Given the description of an element on the screen output the (x, y) to click on. 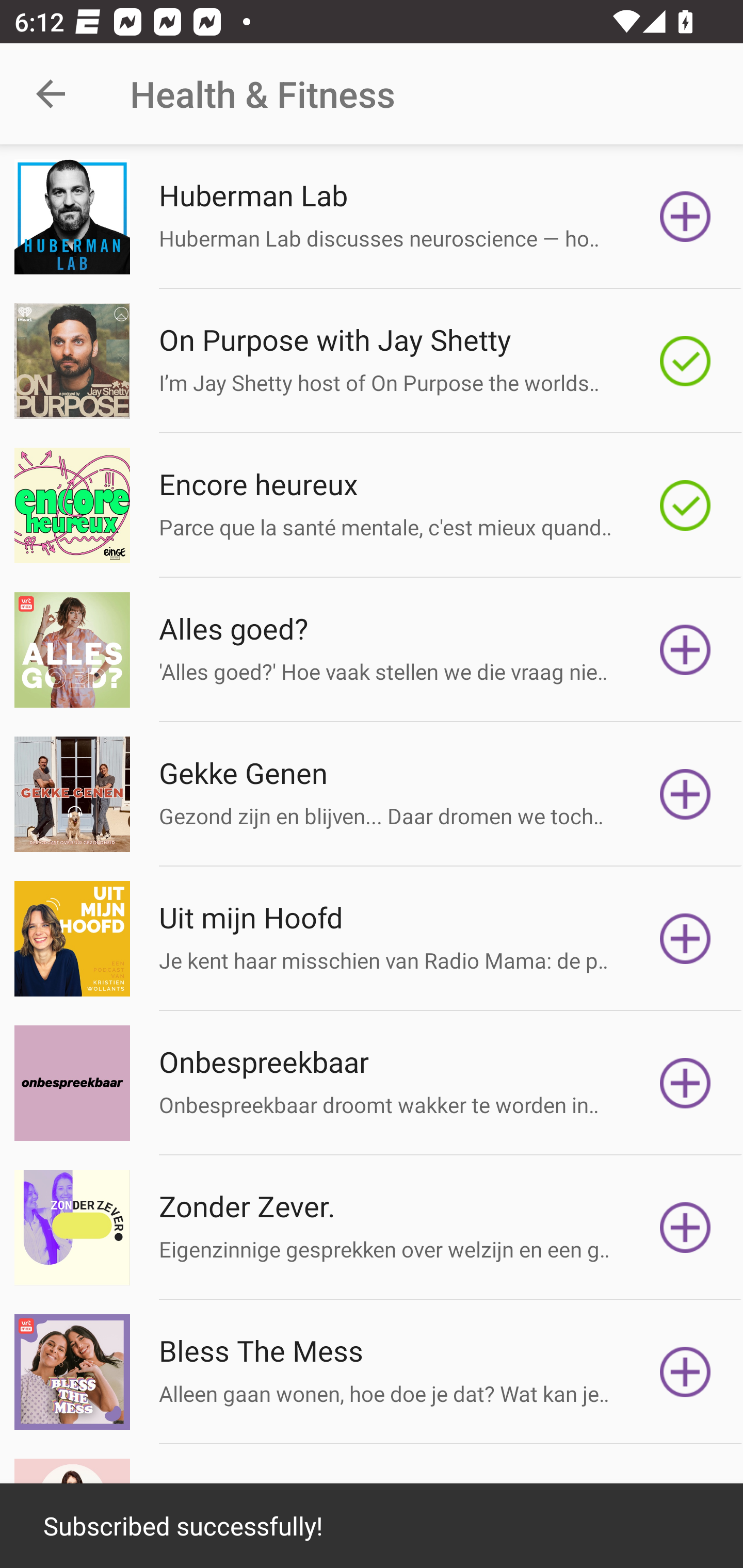
Navigate up (50, 93)
Subscribe (685, 216)
Subscribed (685, 360)
Subscribed (685, 505)
Subscribe (685, 649)
Subscribe (685, 793)
Subscribe (685, 939)
Subscribe (685, 1083)
Subscribe (685, 1227)
Subscribe (685, 1371)
Subscribed successfully! (371, 1525)
